Given the description of an element on the screen output the (x, y) to click on. 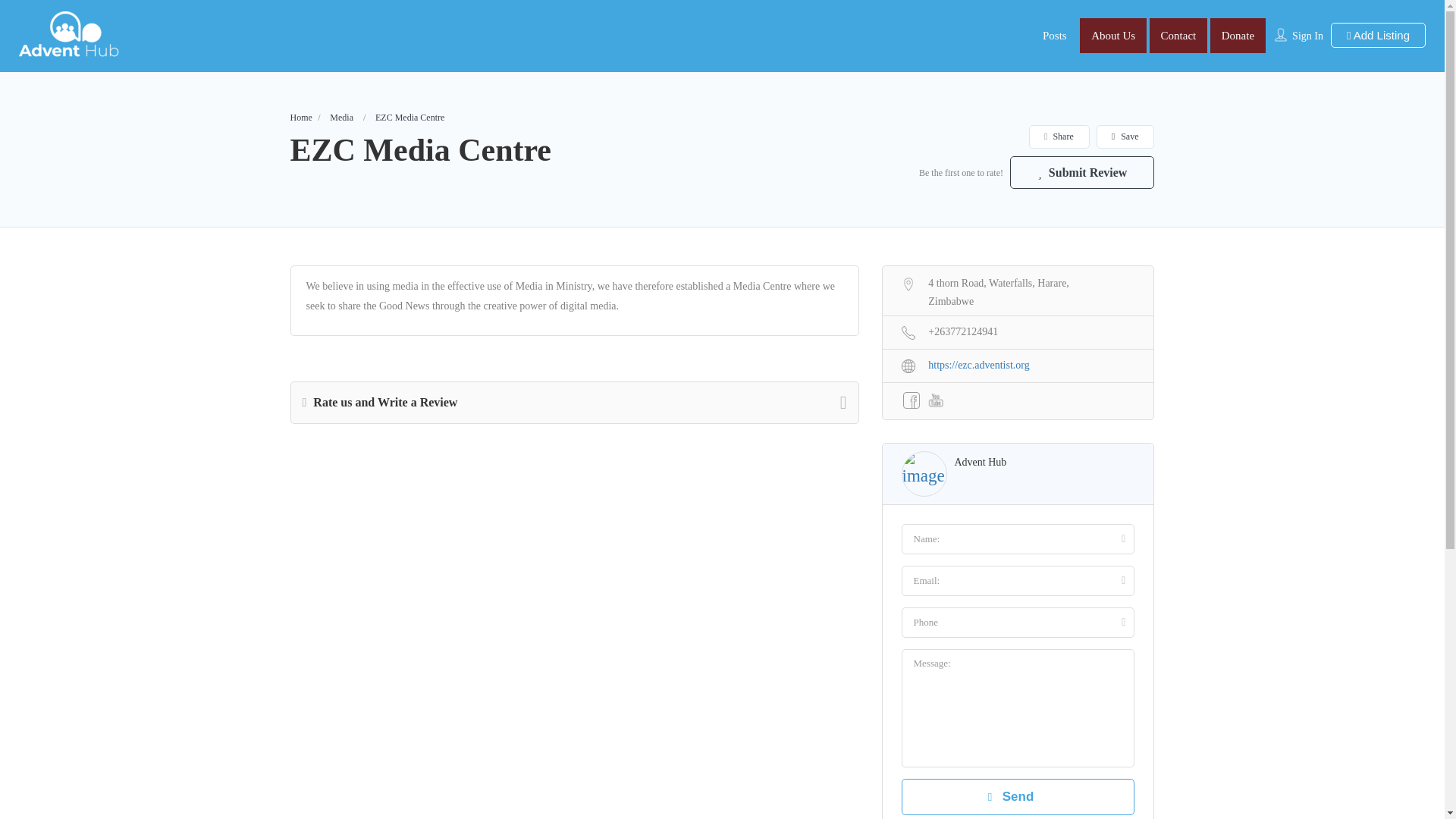
4 thorn Road, Waterfalls, Harare, Zimbabwe (1018, 290)
Posts (1054, 34)
Contact (1179, 35)
Donate (1237, 35)
Save (1125, 137)
Send (1017, 796)
Media (341, 117)
Submit Review (1082, 172)
Sign In (1307, 35)
Add Listing (1377, 34)
Share (1058, 137)
Home (300, 117)
Submit (413, 502)
About Us (1113, 35)
